Given the description of an element on the screen output the (x, y) to click on. 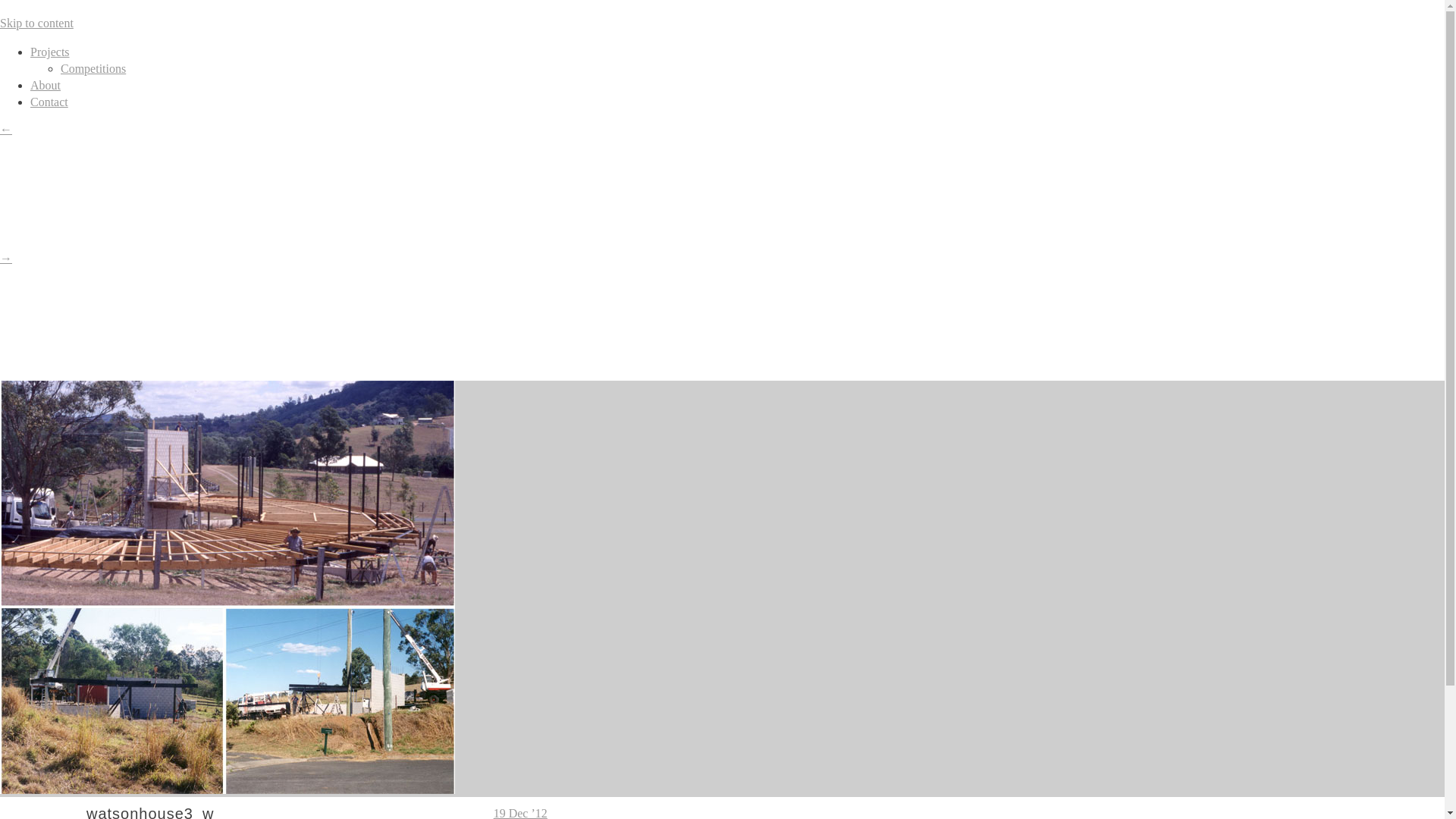
Competitions Element type: text (92, 68)
Projects Element type: text (49, 51)
About Element type: text (45, 84)
Skip to content Element type: text (36, 22)
Contact Element type: text (49, 101)
